Given the description of an element on the screen output the (x, y) to click on. 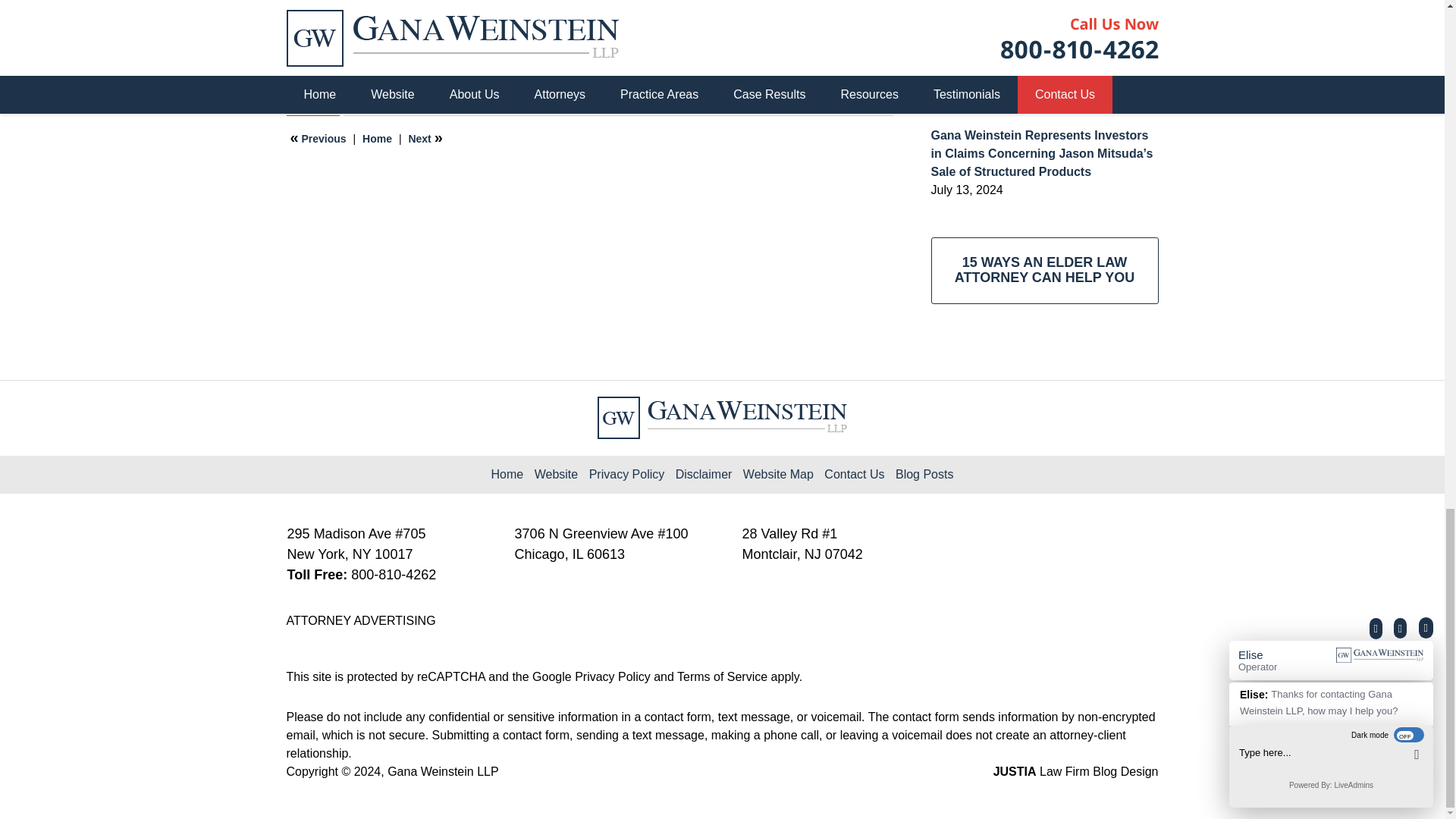
REITs (351, 52)
View all posts tagged with Summit Brokerage (544, 69)
View all posts tagged with Victor Rigoni (779, 69)
Universal Life Policy Holders Face Unfair Premium Increases (318, 138)
View all posts tagged with Cambridge Investment Research (409, 69)
View all posts tagged with unsuitable REIT attorney (660, 69)
View all posts in REITs (351, 52)
